Given the description of an element on the screen output the (x, y) to click on. 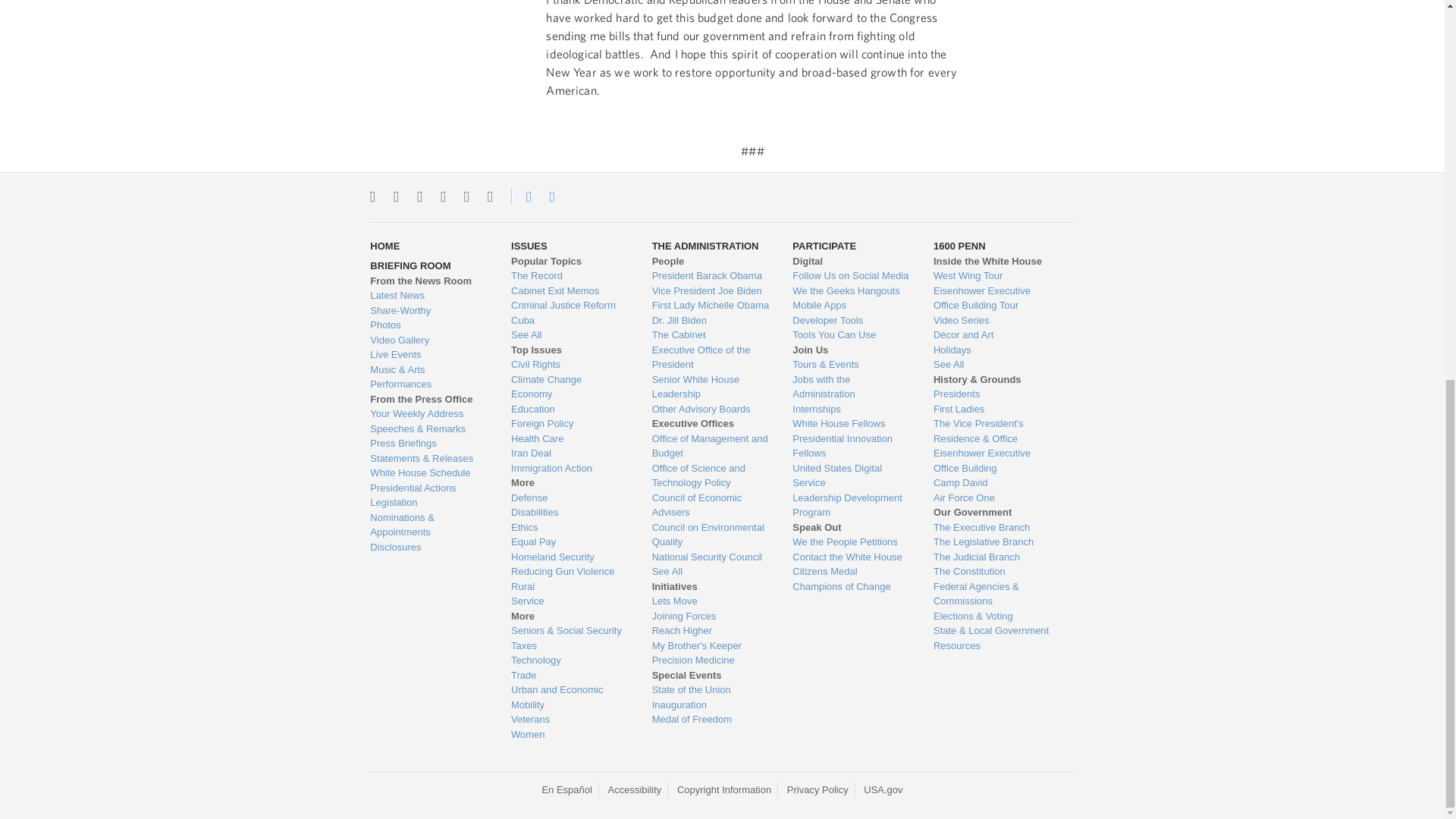
Contact the Whitehouse. (521, 196)
Read the latest blog posts from 1600 Pennsylvania Ave (428, 295)
Watch behind-the-scenes videos and more (428, 340)
View the photo of the day and other galleries (428, 324)
Check out the most popular infographics and videos (428, 310)
